Given the description of an element on the screen output the (x, y) to click on. 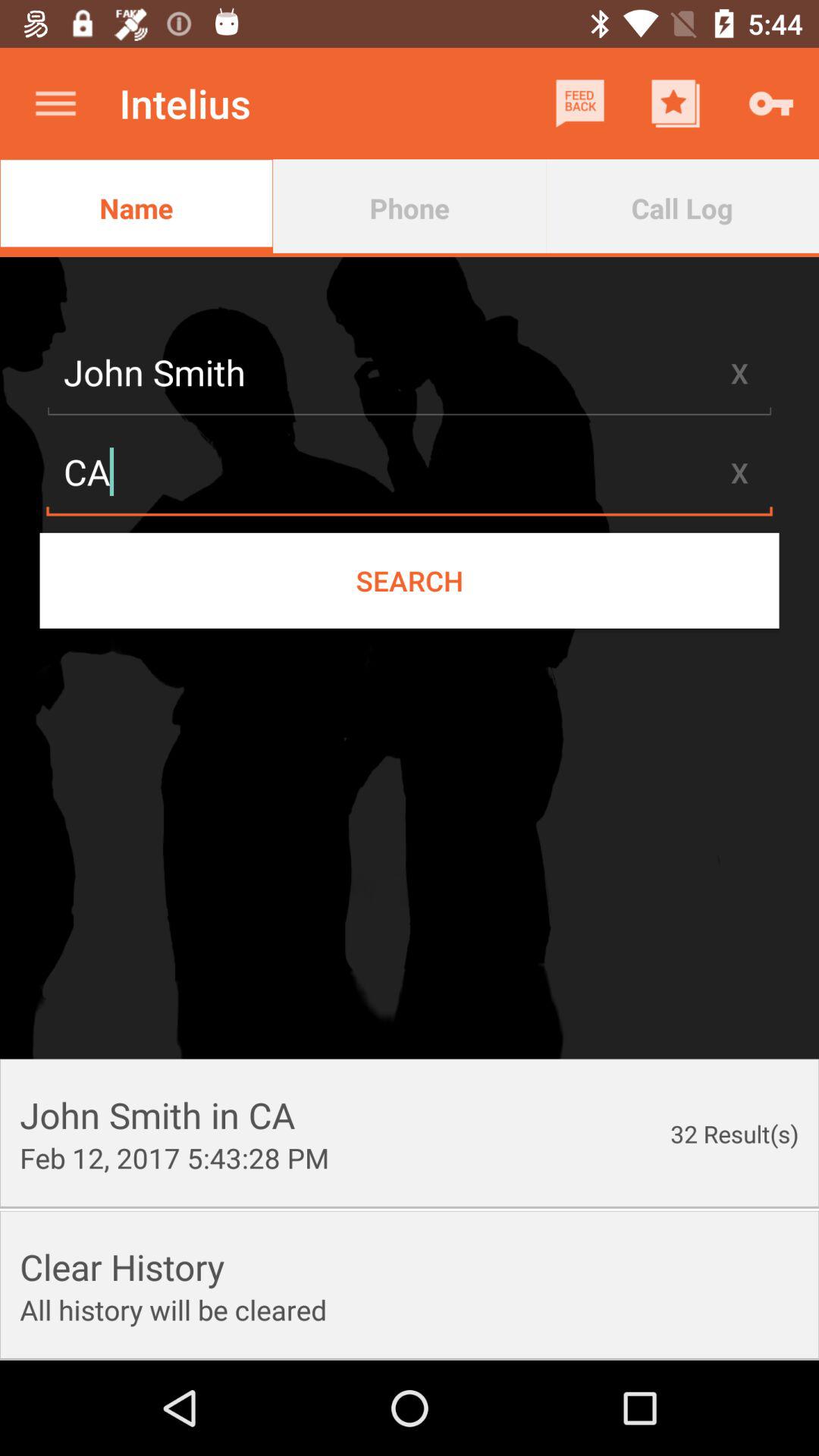
tap icon below the john smith in (174, 1157)
